Given the description of an element on the screen output the (x, y) to click on. 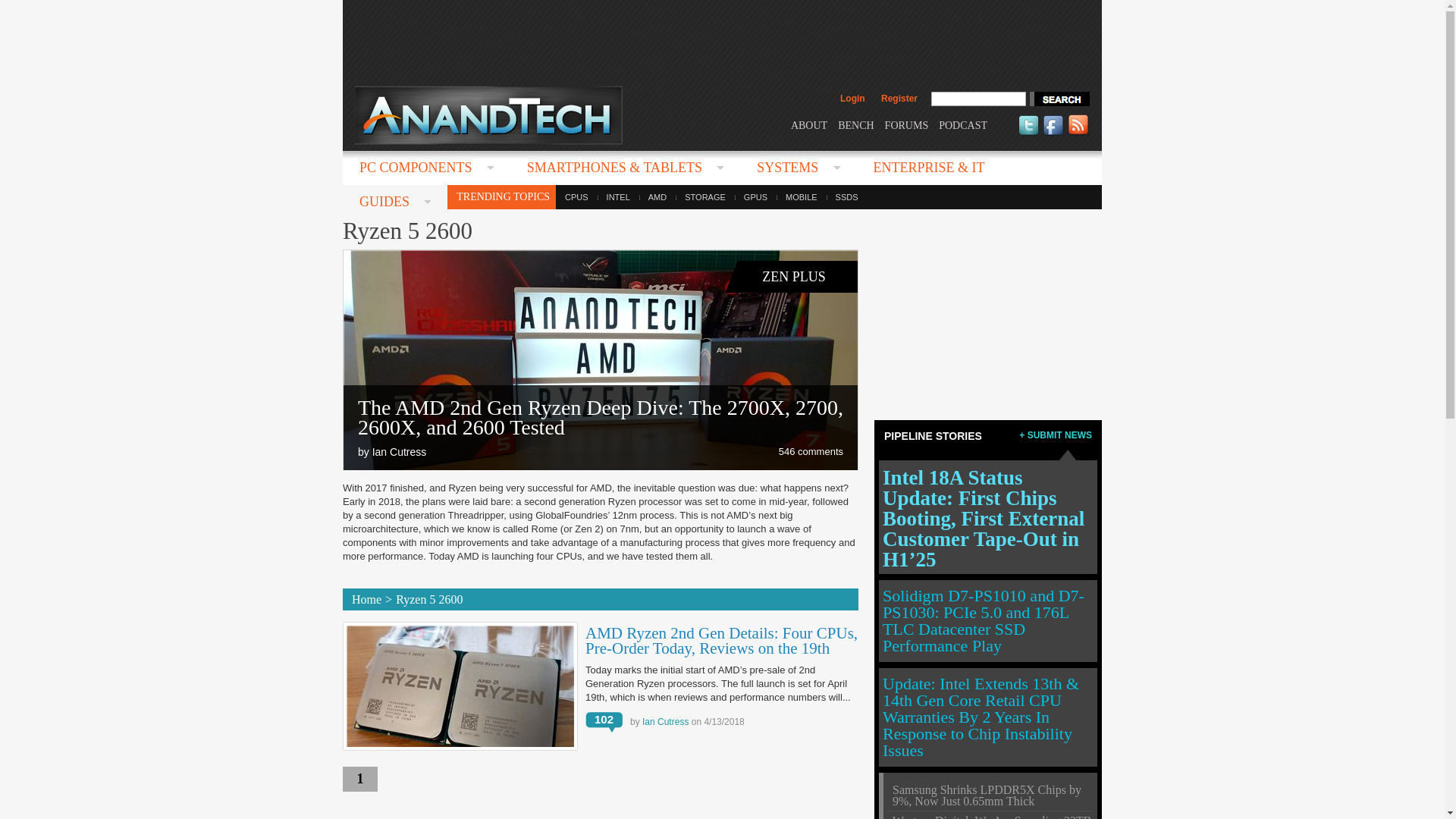
FORUMS (906, 125)
BENCH (855, 125)
Register (898, 98)
Login (852, 98)
PODCAST (963, 125)
search (1059, 98)
search (1059, 98)
search (1059, 98)
ABOUT (808, 125)
